Given the description of an element on the screen output the (x, y) to click on. 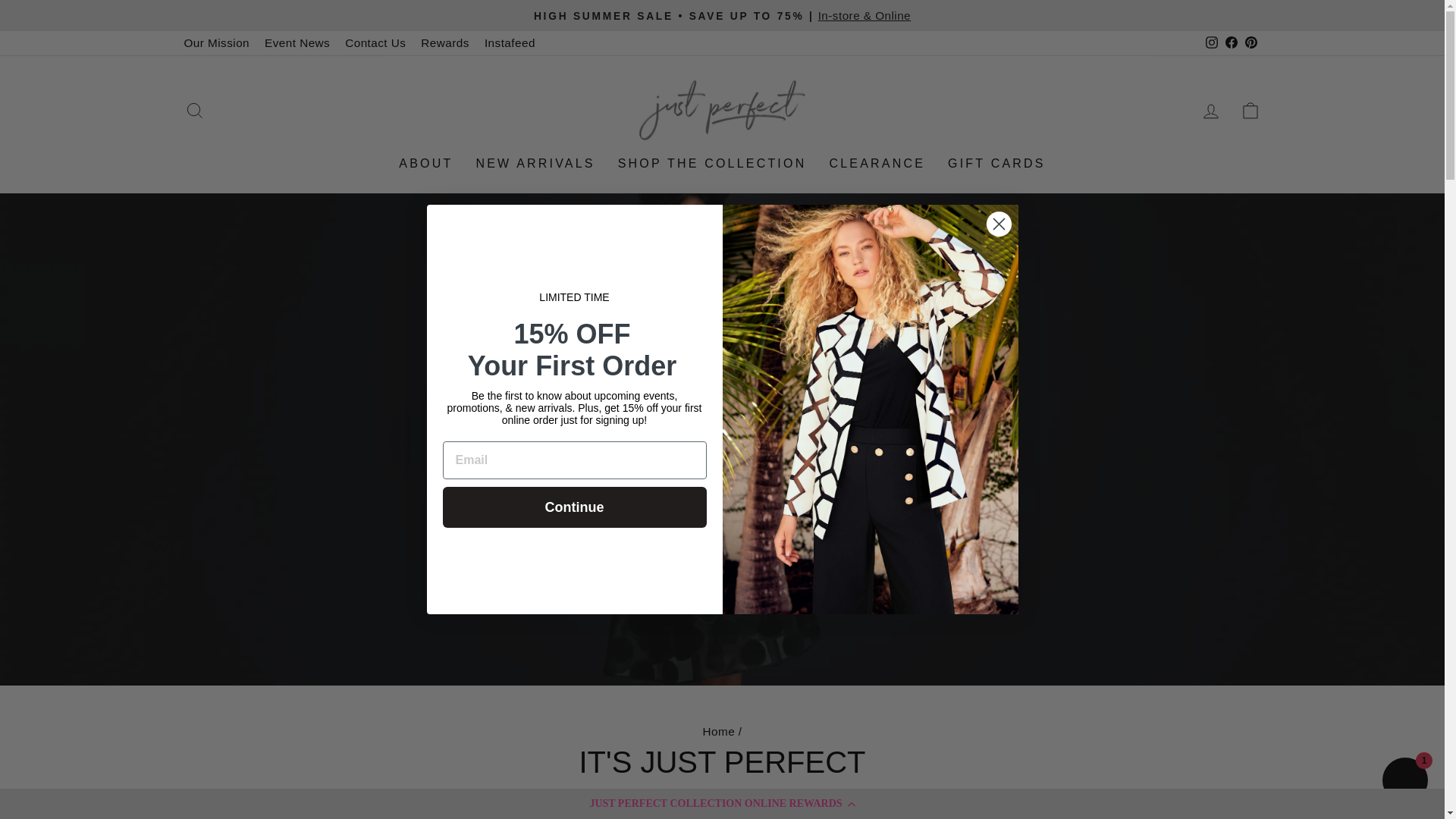
Shopify online store chat (1404, 781)
Back to the frontpage (718, 730)
